Given the description of an element on the screen output the (x, y) to click on. 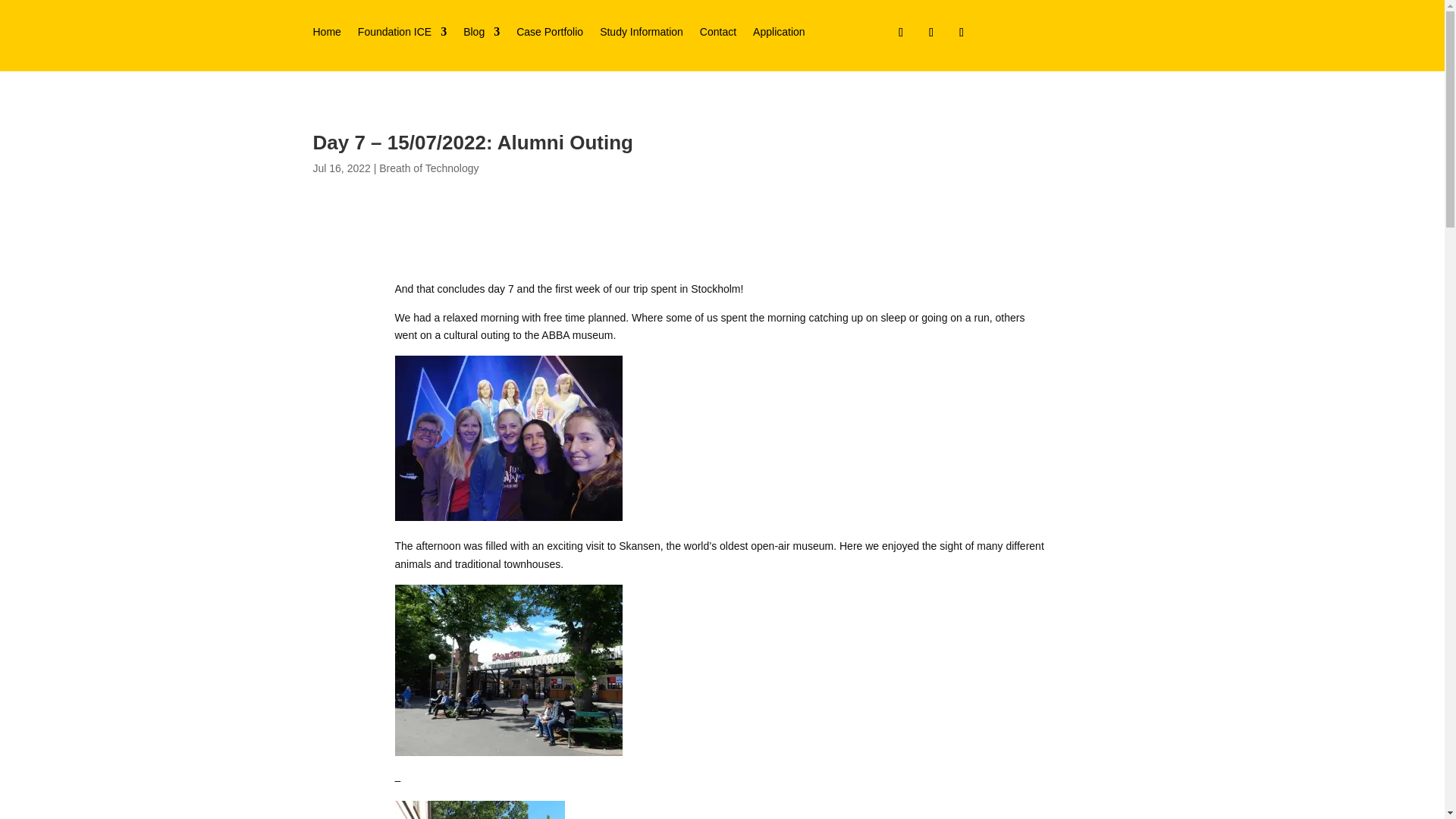
Case Portfolio (549, 34)
Application (778, 34)
Follow on LinkedIn (930, 32)
Breath of Technology (428, 168)
Home (326, 34)
Contact (718, 34)
Foundation ICE (402, 34)
Study Information (640, 34)
Follow on Facebook (961, 32)
Blog (481, 34)
Follow on Instagram (900, 32)
